Given the description of an element on the screen output the (x, y) to click on. 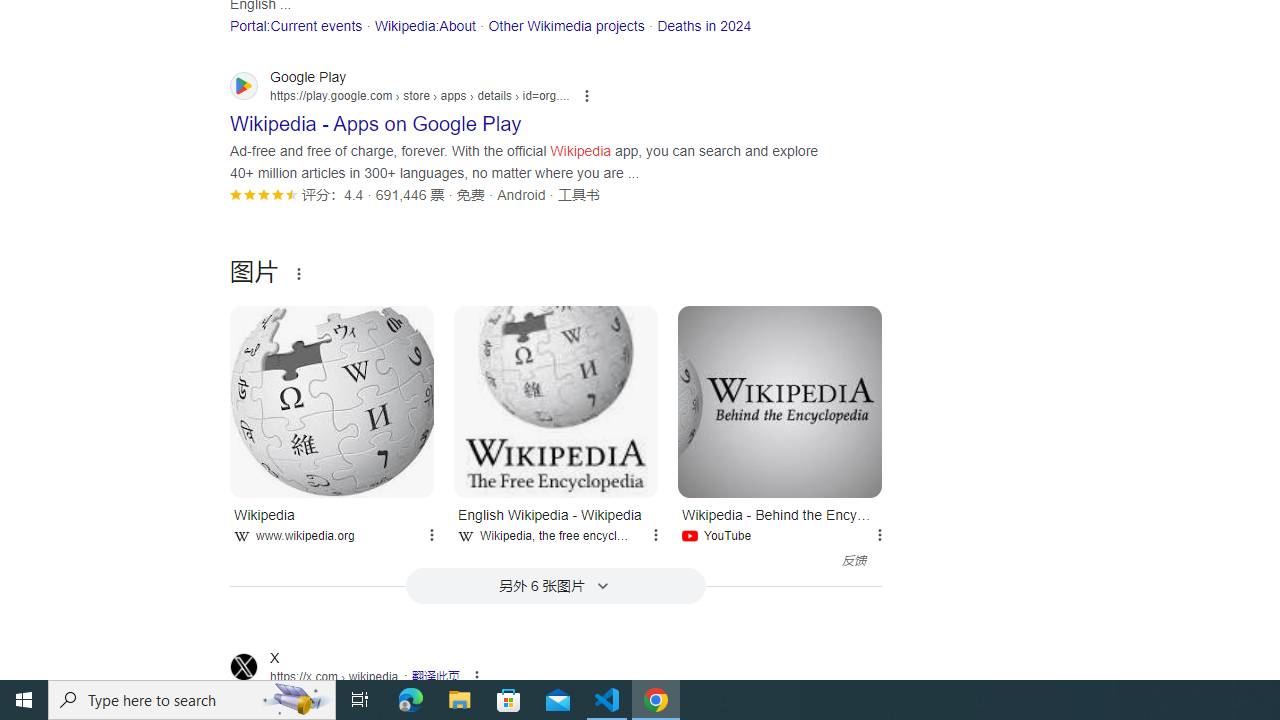
Wikipedia - Behind the Encyclopedia (779, 401)
Wikipedia:About (424, 25)
Deaths in 2024 (704, 25)
English Wikipedia - Wikipedia (555, 401)
English Wikipedia - Wikipedia (555, 401)
Wikipedia - Behind the Encyclopedia YouTube (779, 521)
Other Wikimedia projects (566, 25)
Portal:Current events (296, 25)
Wikipedia www.wikipedia.org (331, 521)
